Given the description of an element on the screen output the (x, y) to click on. 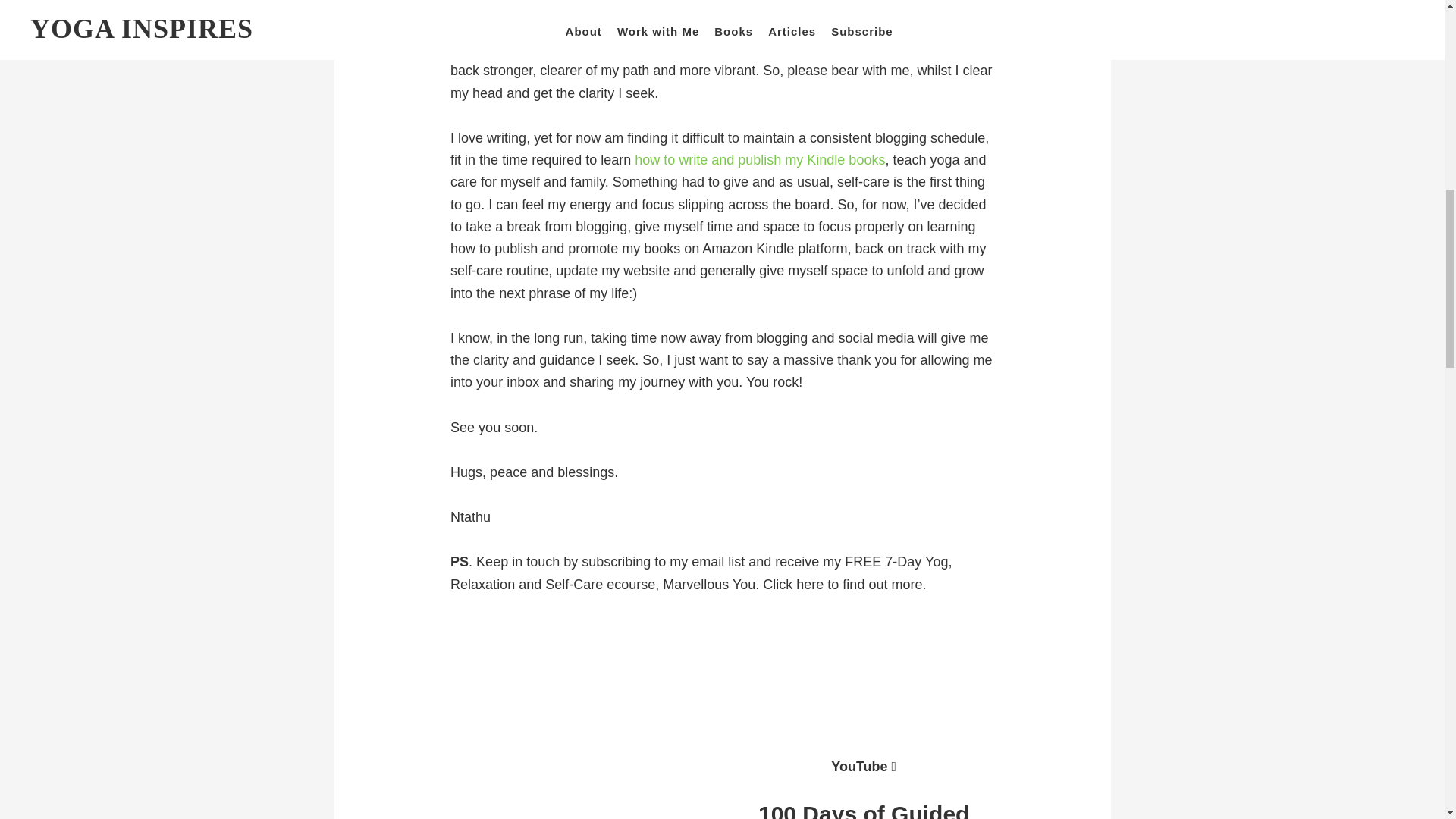
how to write and publish my Kindle books (759, 159)
Ntathu Allen's Kindle Central Author's Page (759, 159)
